Given the description of an element on the screen output the (x, y) to click on. 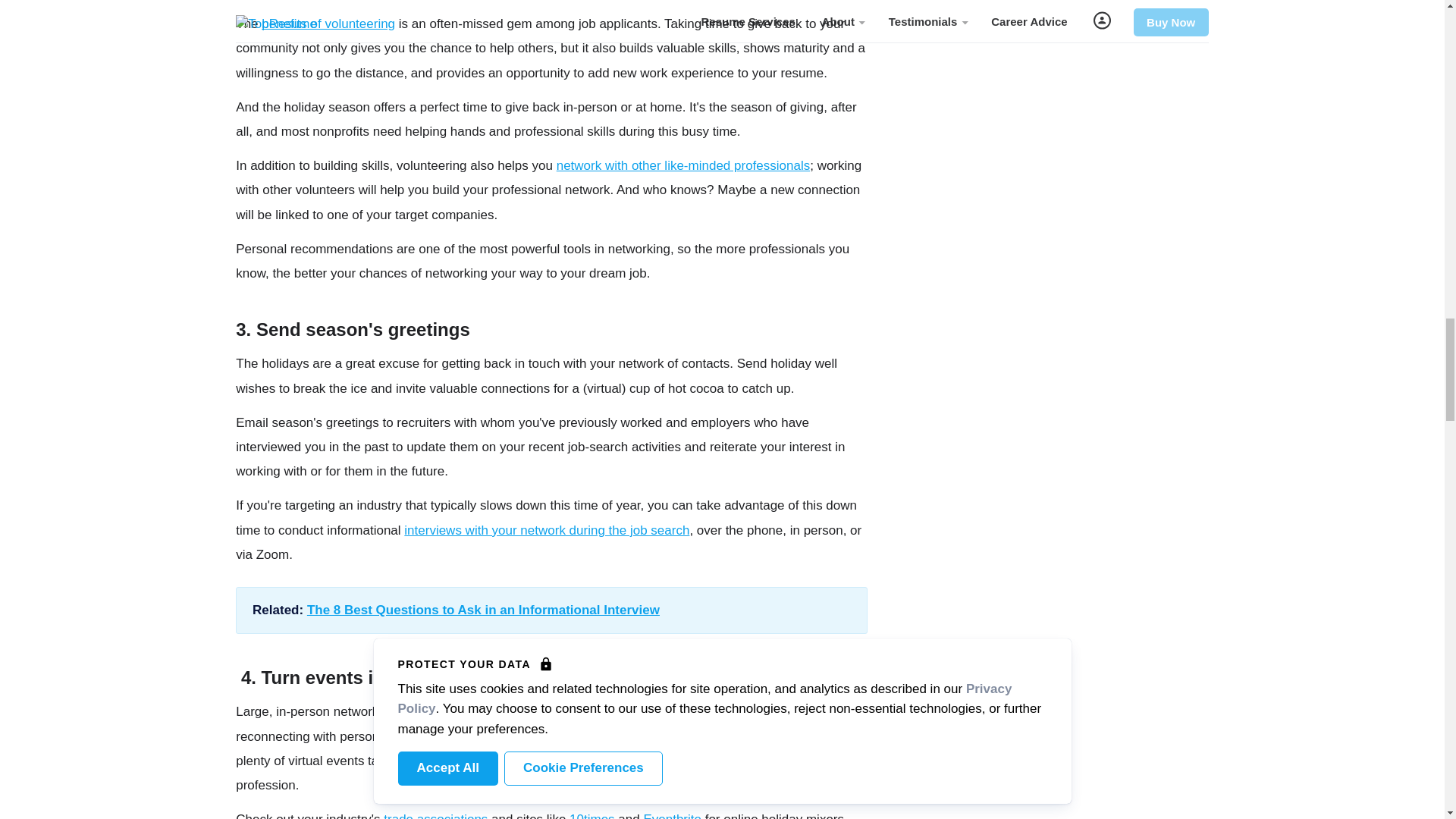
trade associations (435, 815)
Eventbrite (672, 815)
10times (591, 815)
network with other like-minded professionals (683, 165)
The 8 Best Questions to Ask in an Informational Interview (483, 609)
benefits of volunteering (328, 23)
interviews with your network during the job search (546, 530)
